Given the description of an element on the screen output the (x, y) to click on. 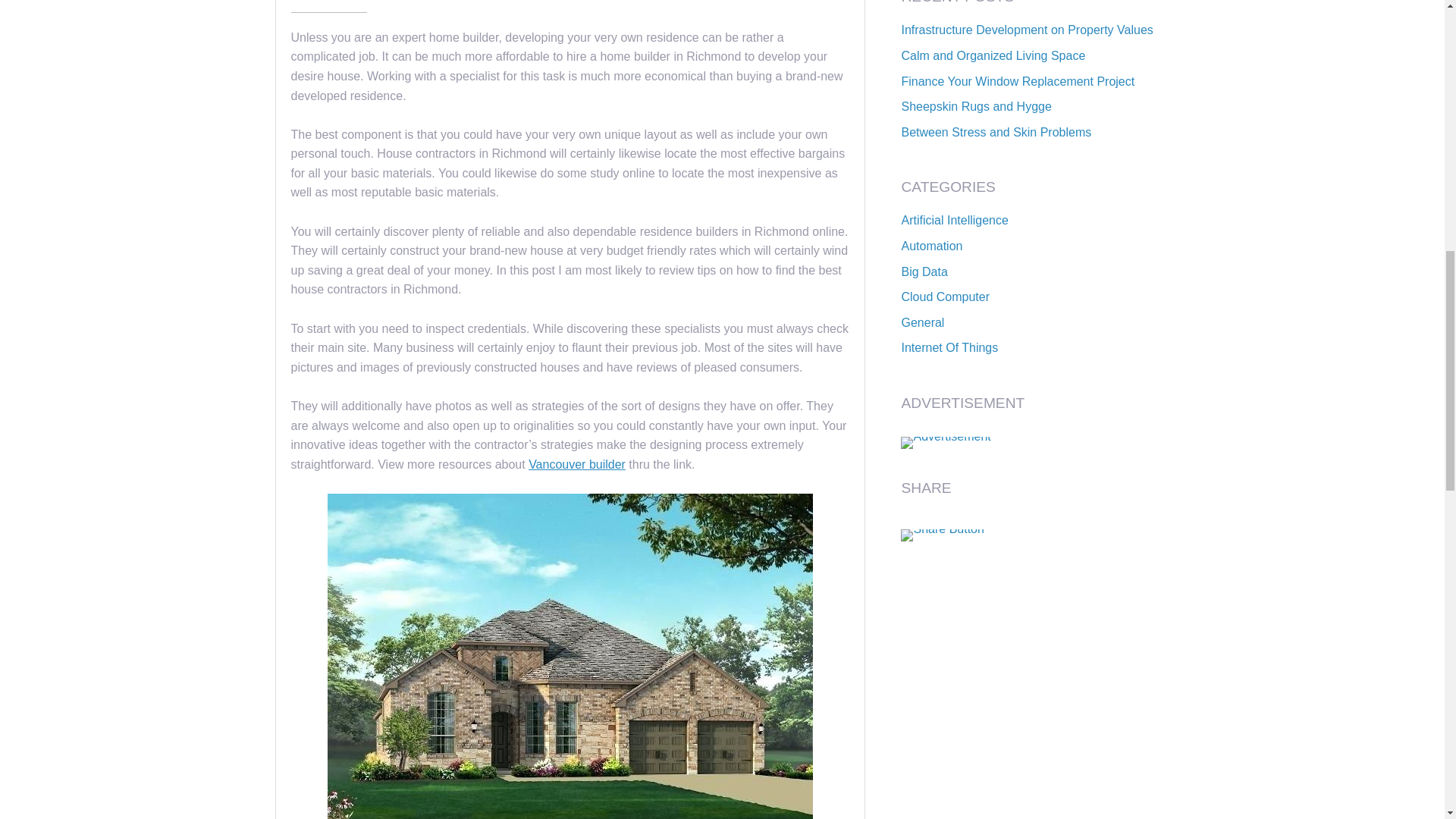
Vancouver builder (577, 463)
